Given the description of an element on the screen output the (x, y) to click on. 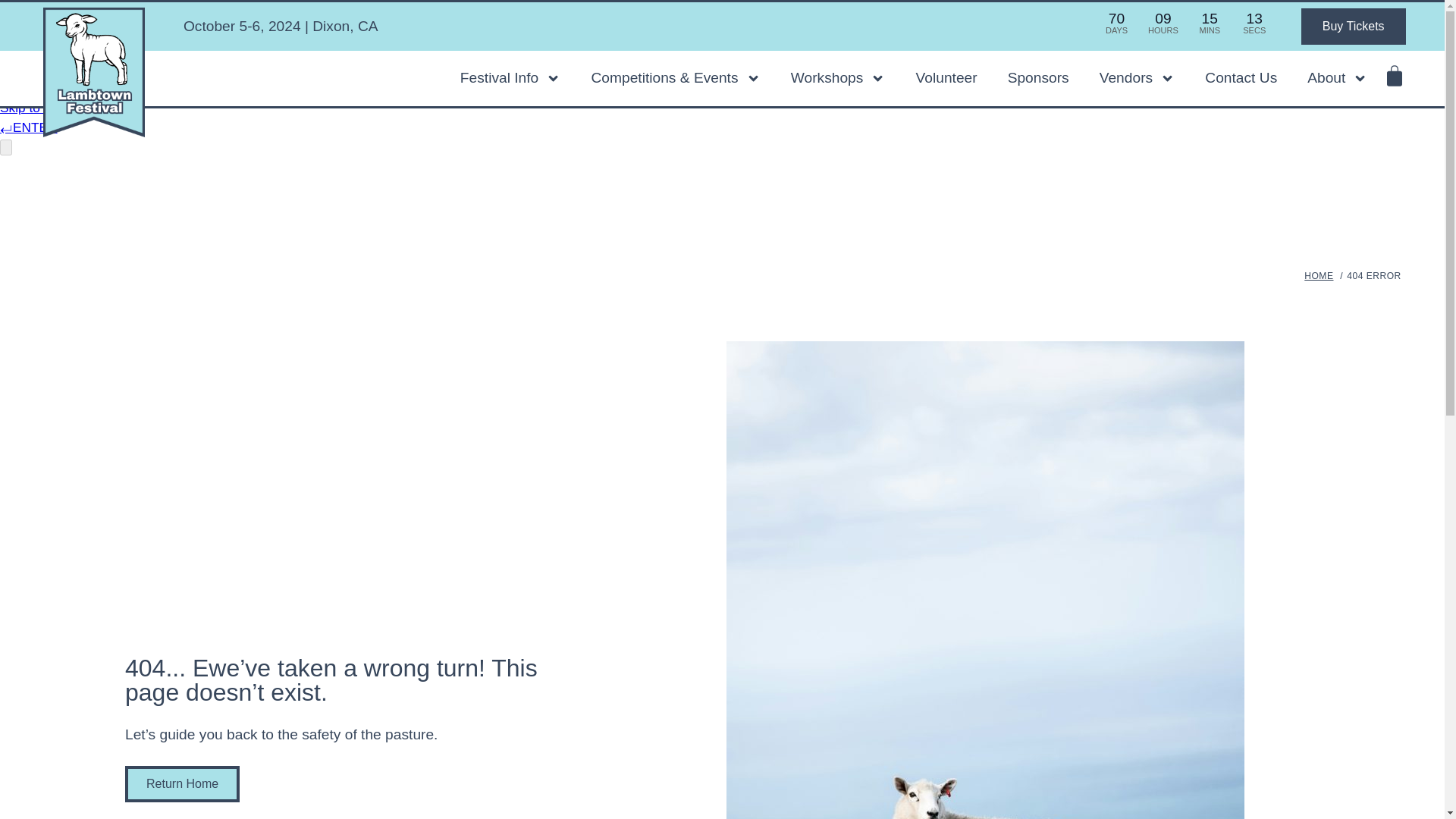
Sponsors (1038, 78)
Festival Info (510, 78)
Workshops (838, 78)
Contact Us (1240, 78)
Buy Tickets (1353, 26)
Volunteer (946, 78)
Vendors (1137, 78)
About (1337, 78)
